Given the description of an element on the screen output the (x, y) to click on. 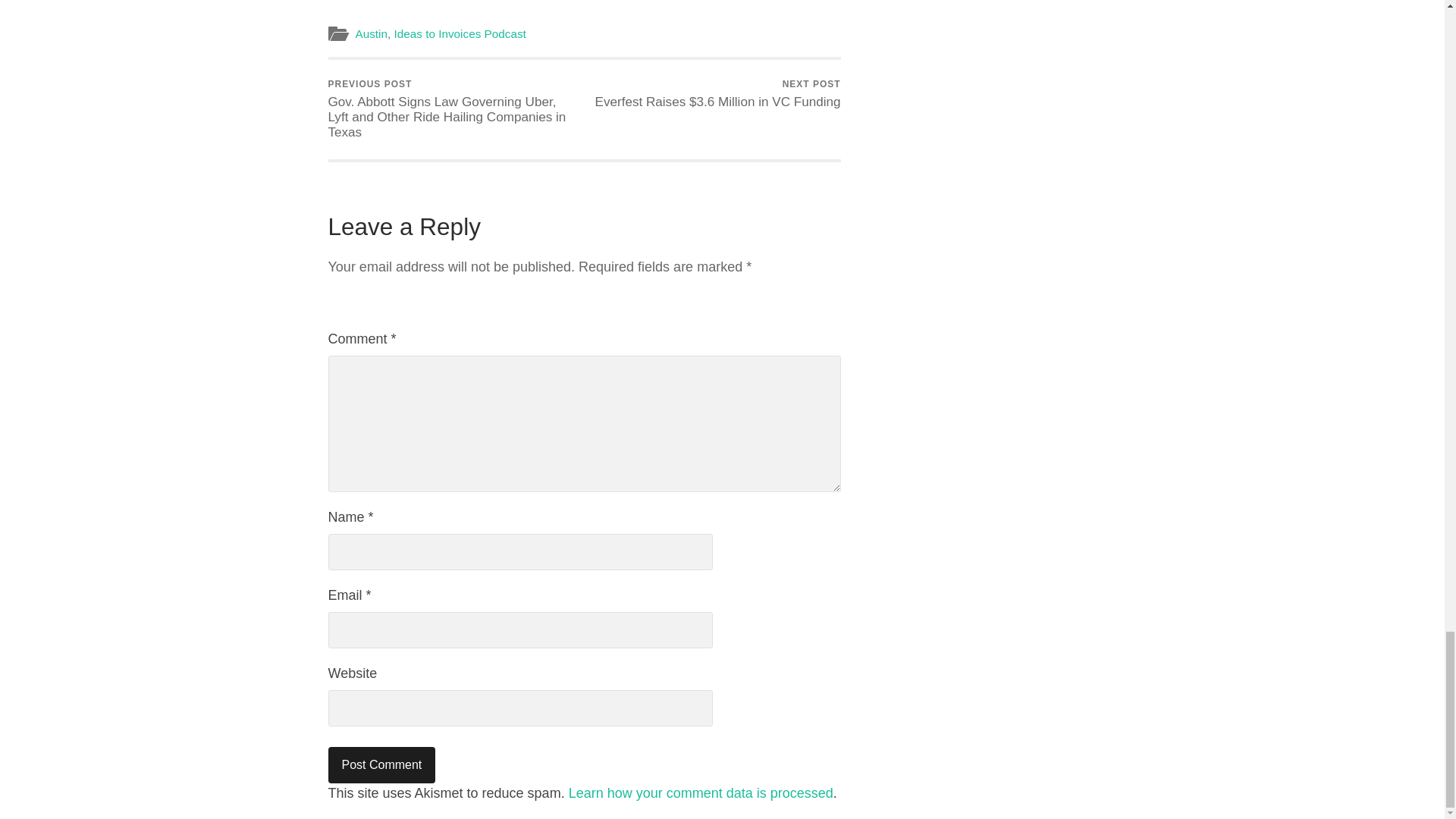
Post Comment (381, 764)
Austin (371, 33)
Post Comment (381, 764)
Ideas to Invoices Podcast (459, 33)
